Given the description of an element on the screen output the (x, y) to click on. 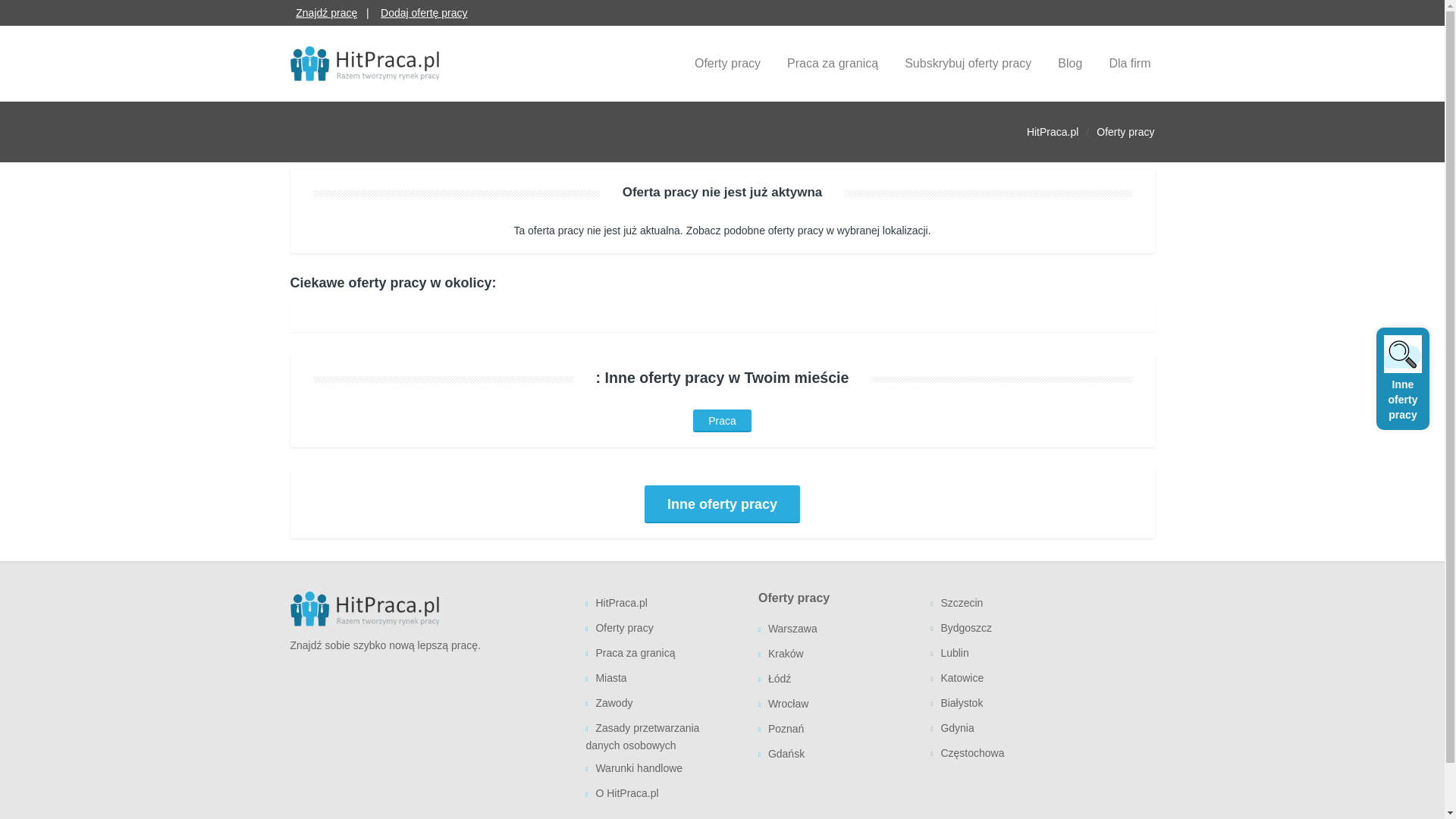
miasta (660, 678)
Lublin (1005, 653)
Katowice (1005, 678)
Oferty pracy (660, 628)
Bydgoszcz (1005, 628)
Praca  (722, 420)
Zasady przetwarzania danych osobowych (660, 736)
Oferty pracy (1125, 131)
HitPraca.pl (1052, 131)
Gdynia (1005, 729)
